Given the description of an element on the screen output the (x, y) to click on. 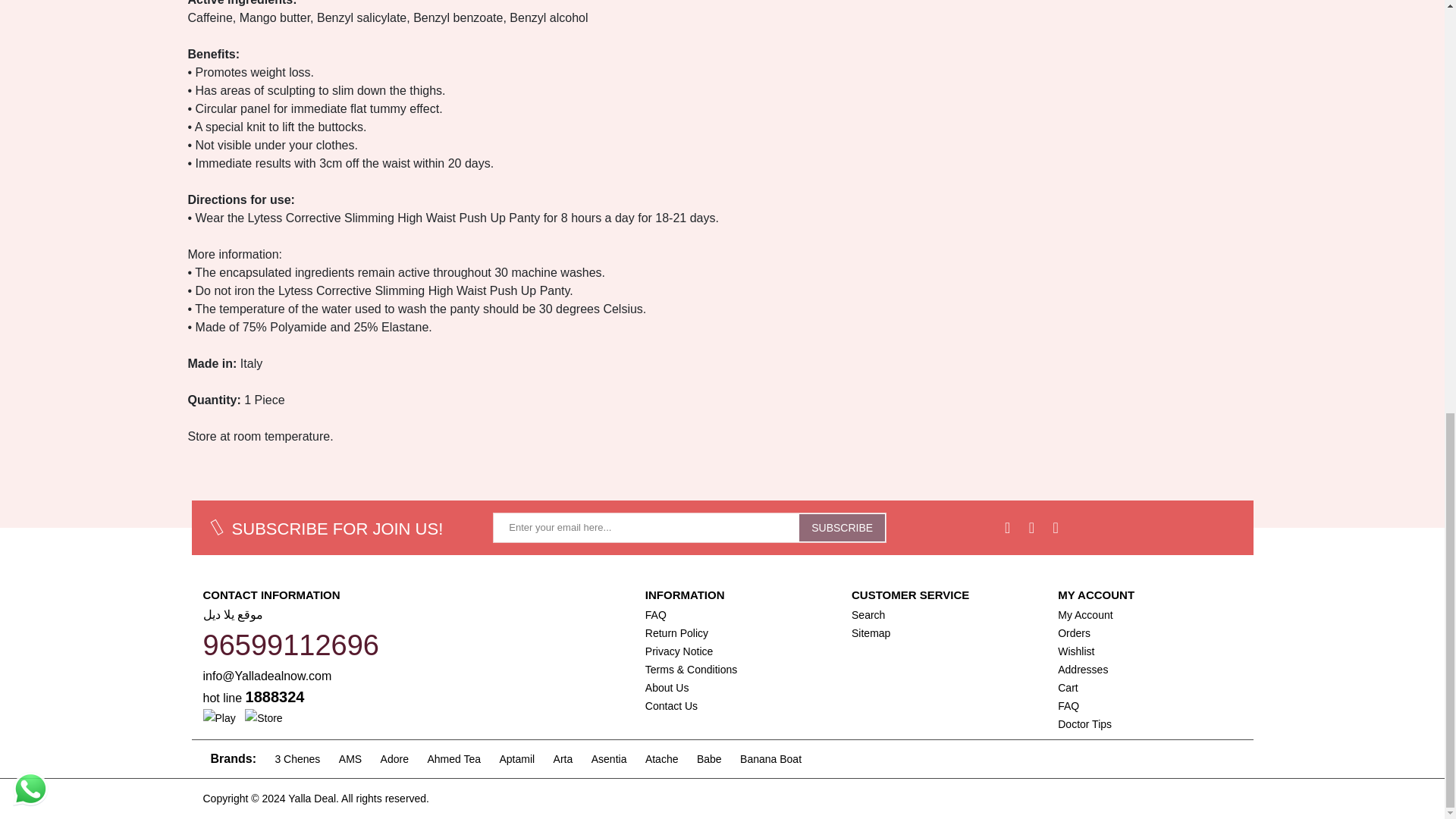
youtube (1055, 527)
instagram (1032, 527)
facebook (1007, 527)
